Given the description of an element on the screen output the (x, y) to click on. 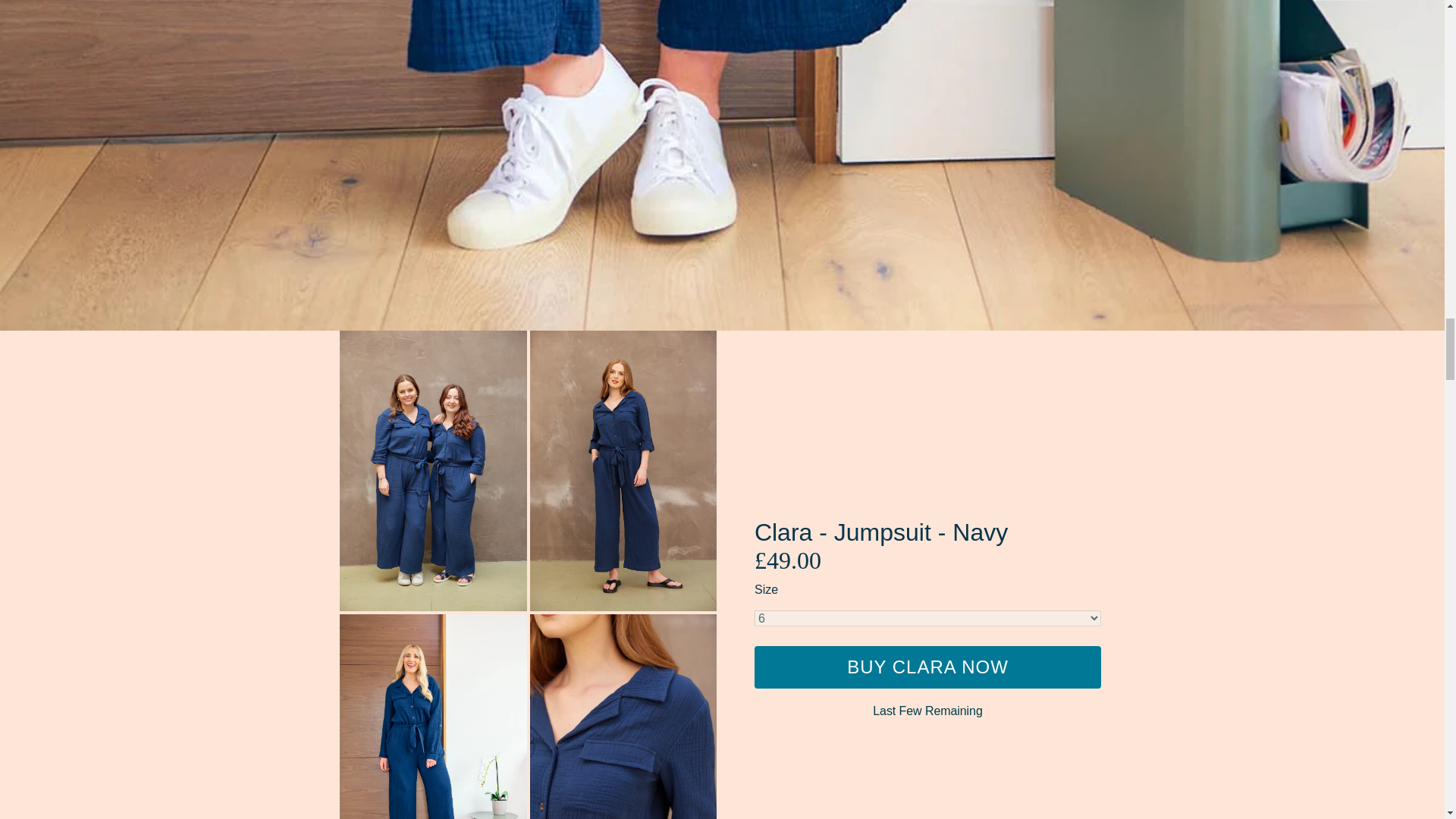
BUY CLARA NOW (927, 667)
